Given the description of an element on the screen output the (x, y) to click on. 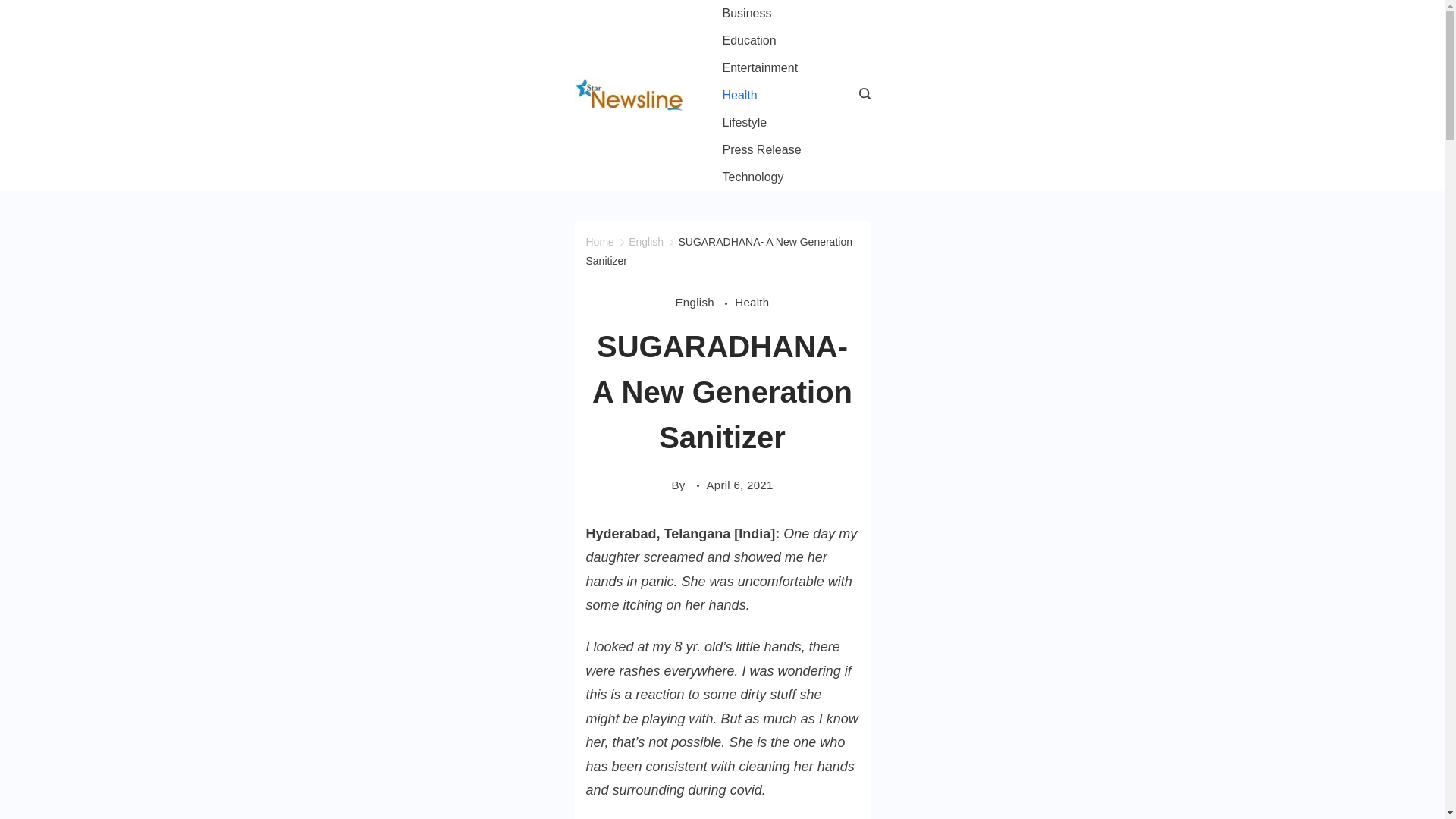
Lifestyle (744, 122)
Technology (753, 176)
SUGARADHANA- A New Generation Sanitizer (718, 250)
Entertainment (759, 67)
Health (739, 94)
English (705, 302)
English (645, 241)
Health (751, 302)
Business (746, 13)
Press Release (762, 149)
Home (598, 241)
Education (748, 40)
